Given the description of an element on the screen output the (x, y) to click on. 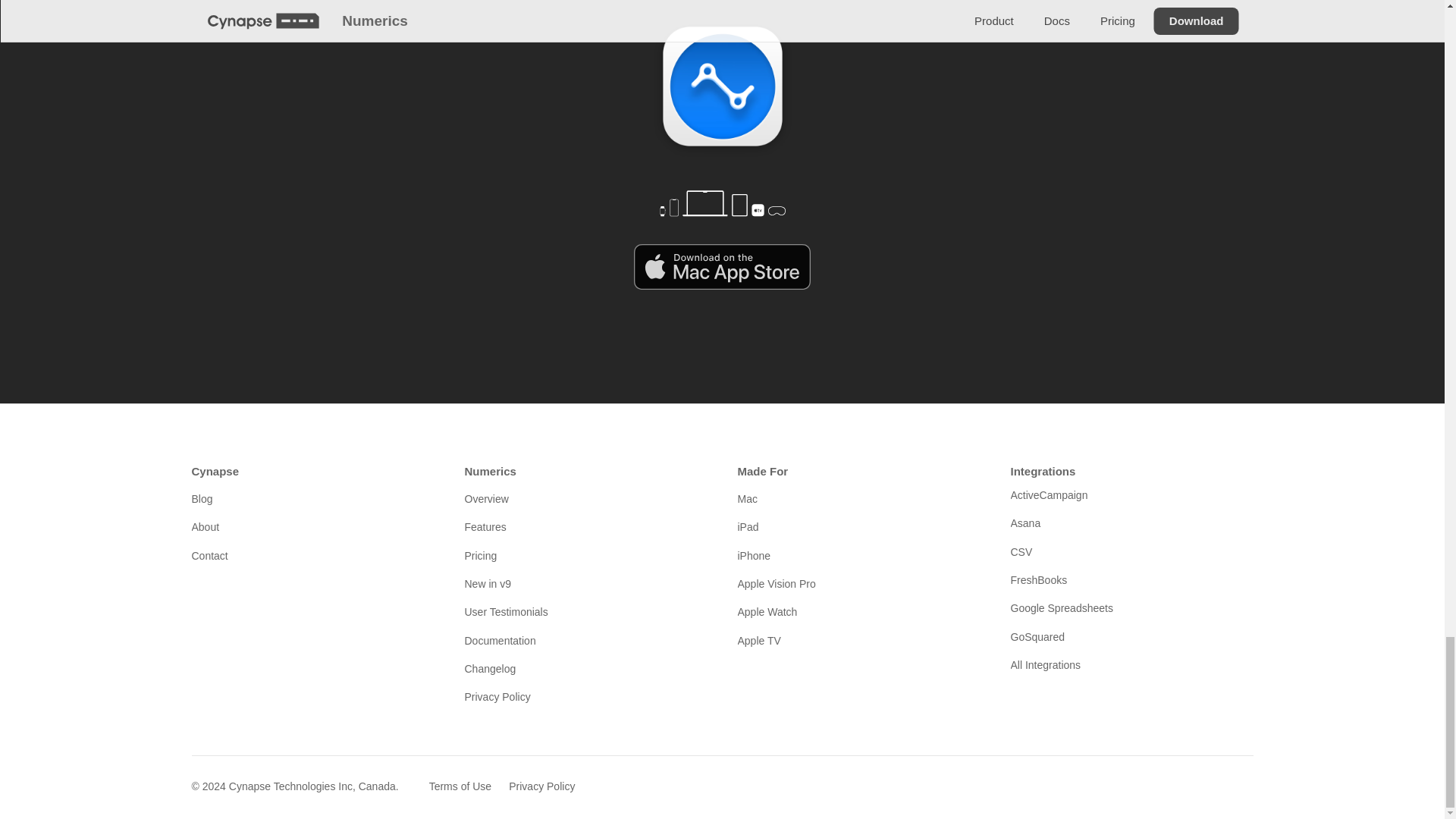
User Testimonials (585, 611)
Privacy Policy (585, 696)
Pricing (585, 555)
Apple Vision Pro (857, 583)
Apple TV (857, 640)
CSV (1131, 551)
iPad (857, 526)
New in v9 (585, 583)
Apple Watch (857, 611)
About (311, 526)
